Given the description of an element on the screen output the (x, y) to click on. 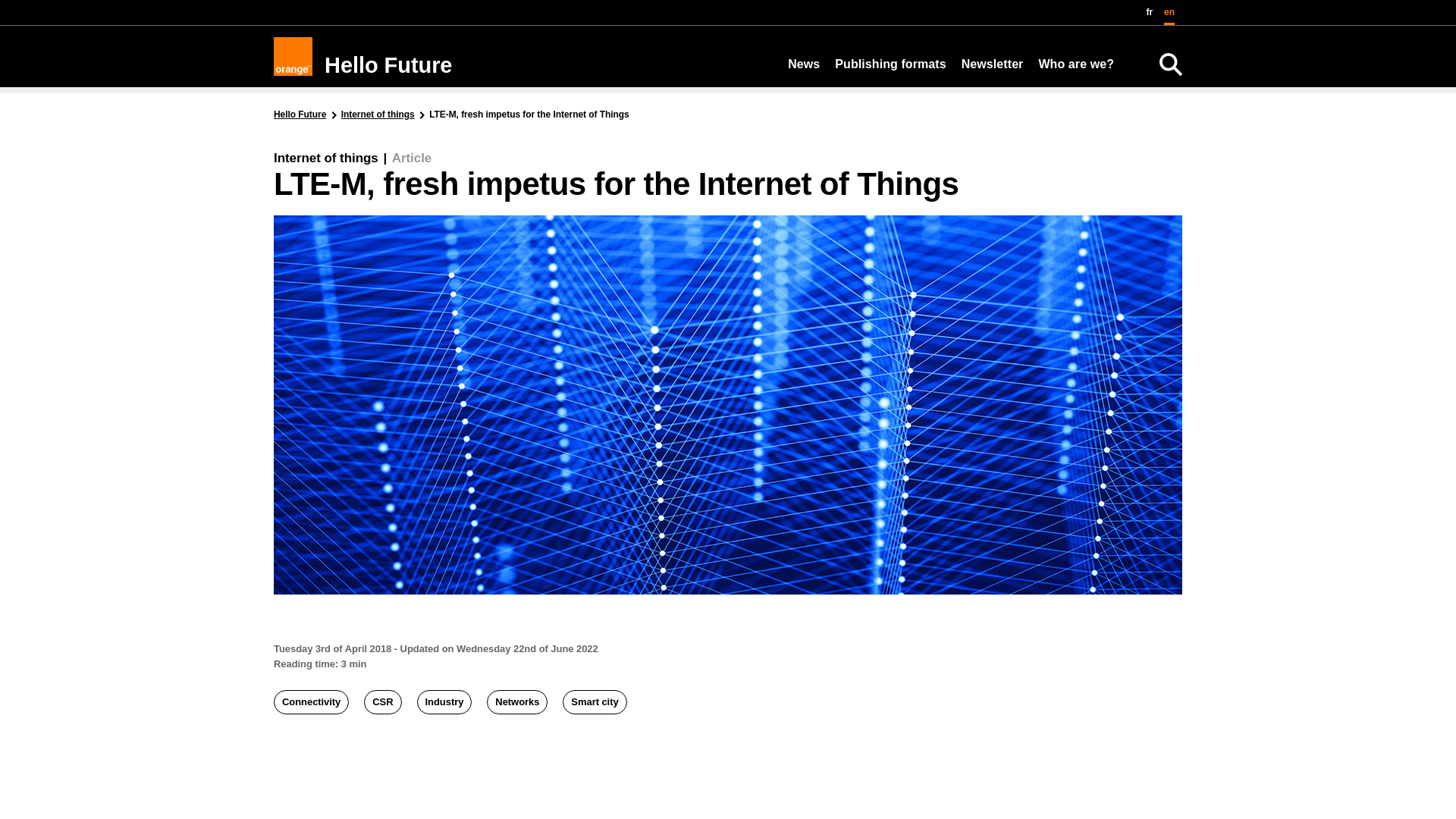
Internet of things (325, 157)
Publishing formats (889, 64)
Connectivity (311, 702)
Networks (516, 702)
Who are we? (1075, 64)
Hello Future (299, 113)
Industry (443, 702)
Article (410, 157)
All entries in Internet of things (377, 113)
News (803, 64)
